Given the description of an element on the screen output the (x, y) to click on. 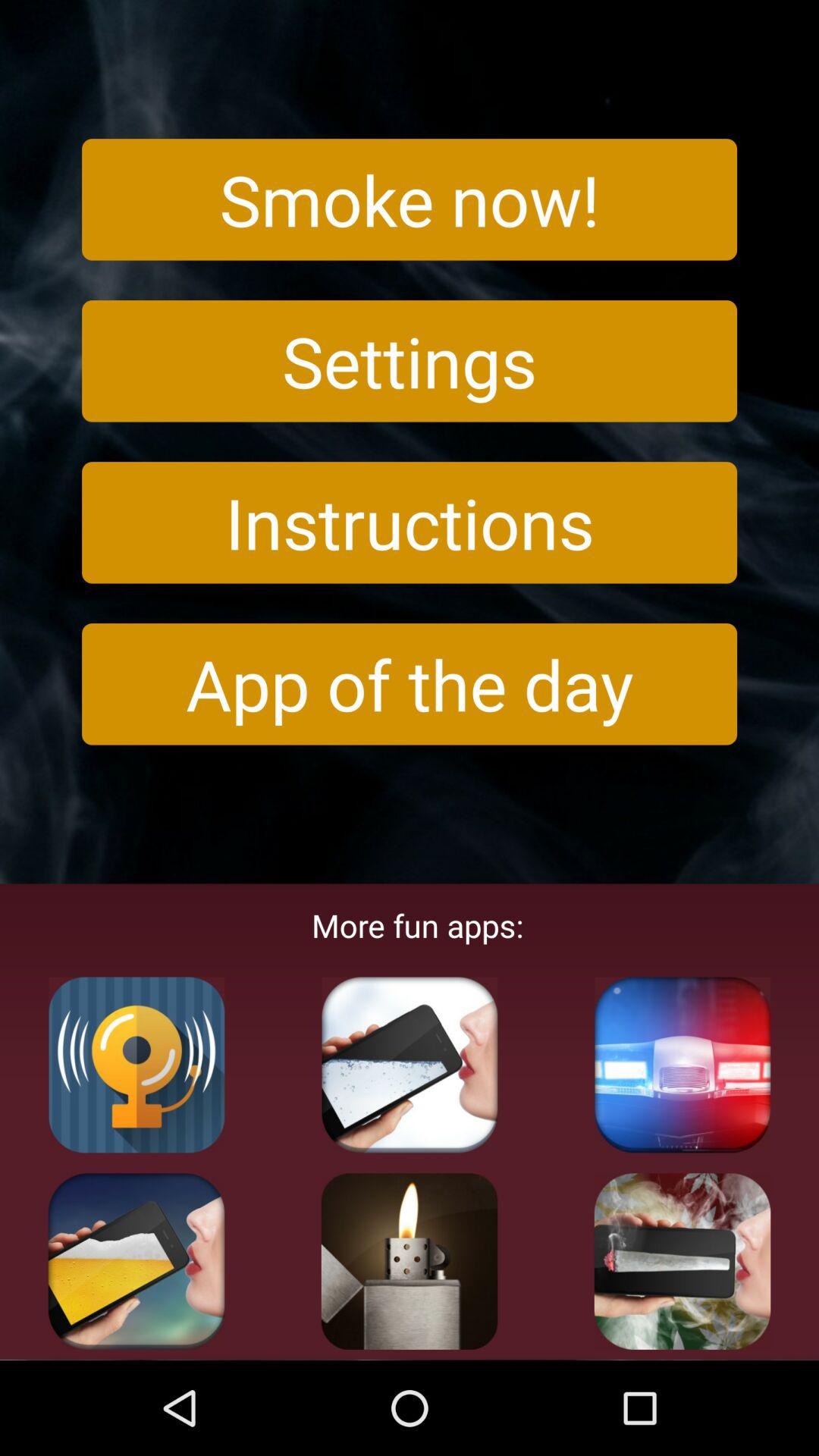
logo (682, 1261)
